Given the description of an element on the screen output the (x, y) to click on. 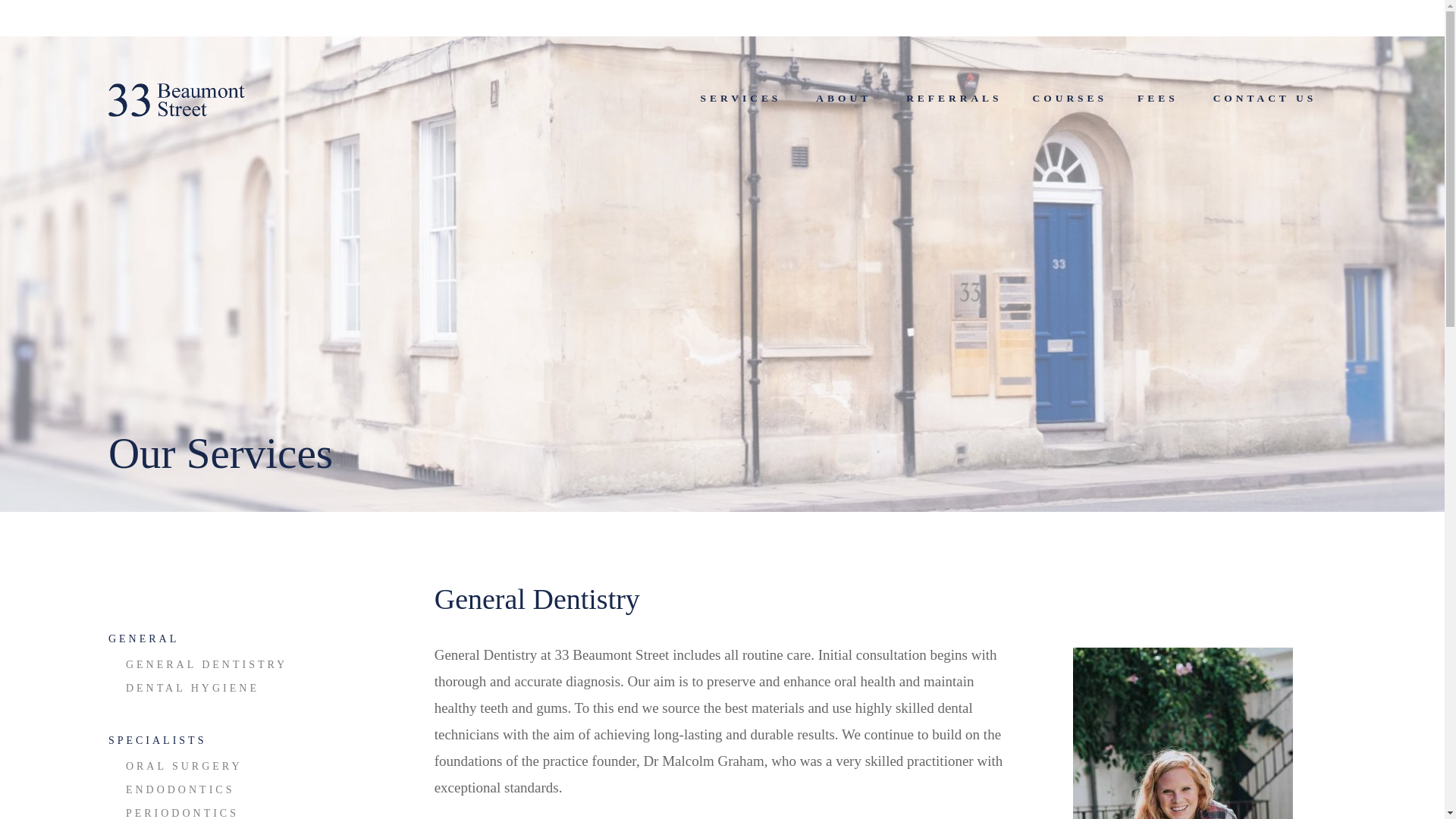
CONTACT US Element type: text (1265, 98)
SERVICES Element type: text (741, 98)
REFERRALS Element type: text (953, 98)
GENERAL Element type: text (143, 638)
COURSES Element type: text (1069, 98)
ABOUT Element type: text (843, 98)
ENDODONTICS Element type: text (180, 789)
SPECIALISTS Element type: text (157, 740)
DENTAL HYGIENE Element type: text (192, 687)
GENERAL DENTISTRY Element type: text (206, 664)
FEES Element type: text (1157, 98)
ORAL SURGERY Element type: text (183, 765)
